Given the description of an element on the screen output the (x, y) to click on. 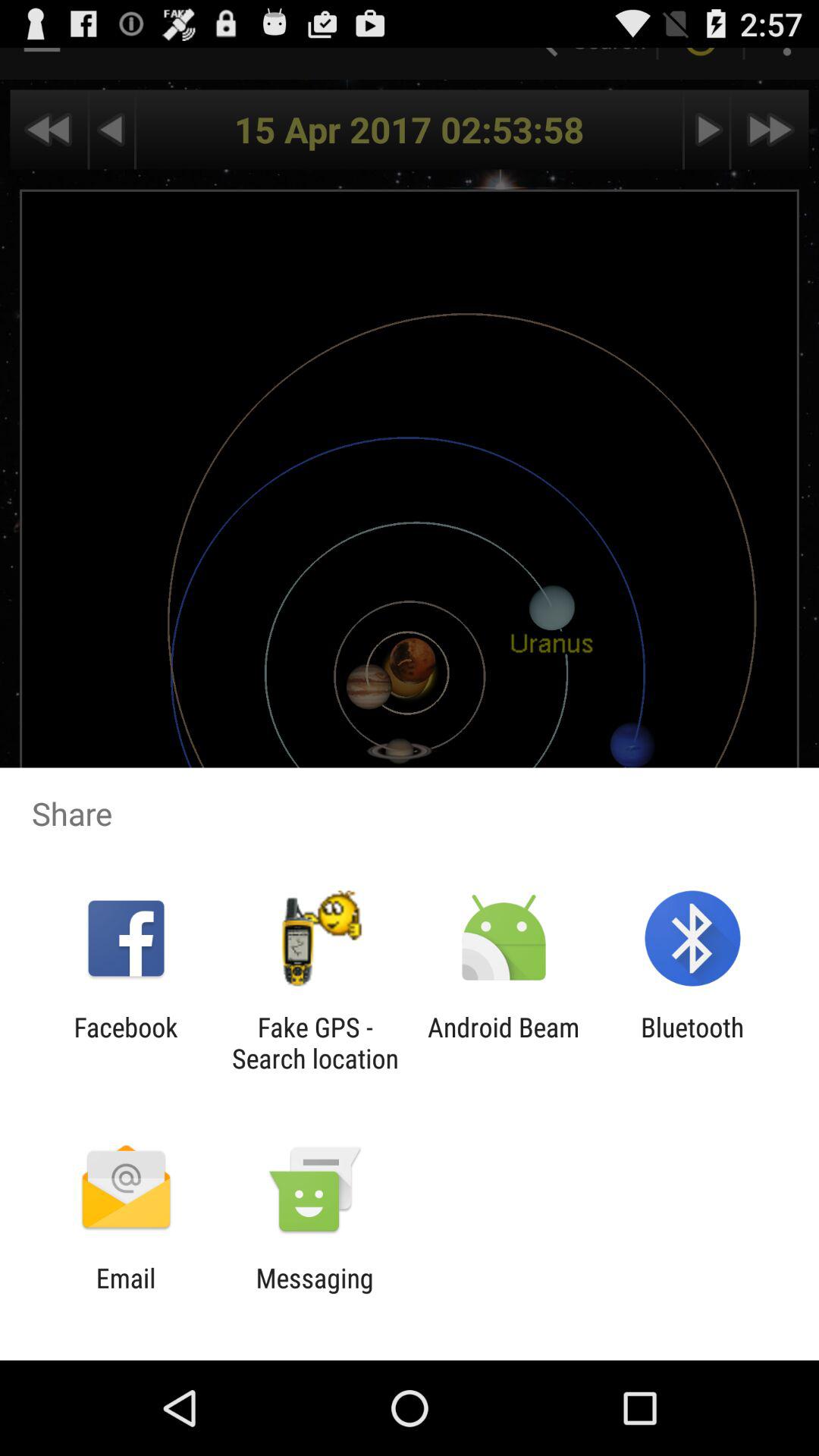
open icon next to messaging icon (125, 1293)
